Given the description of an element on the screen output the (x, y) to click on. 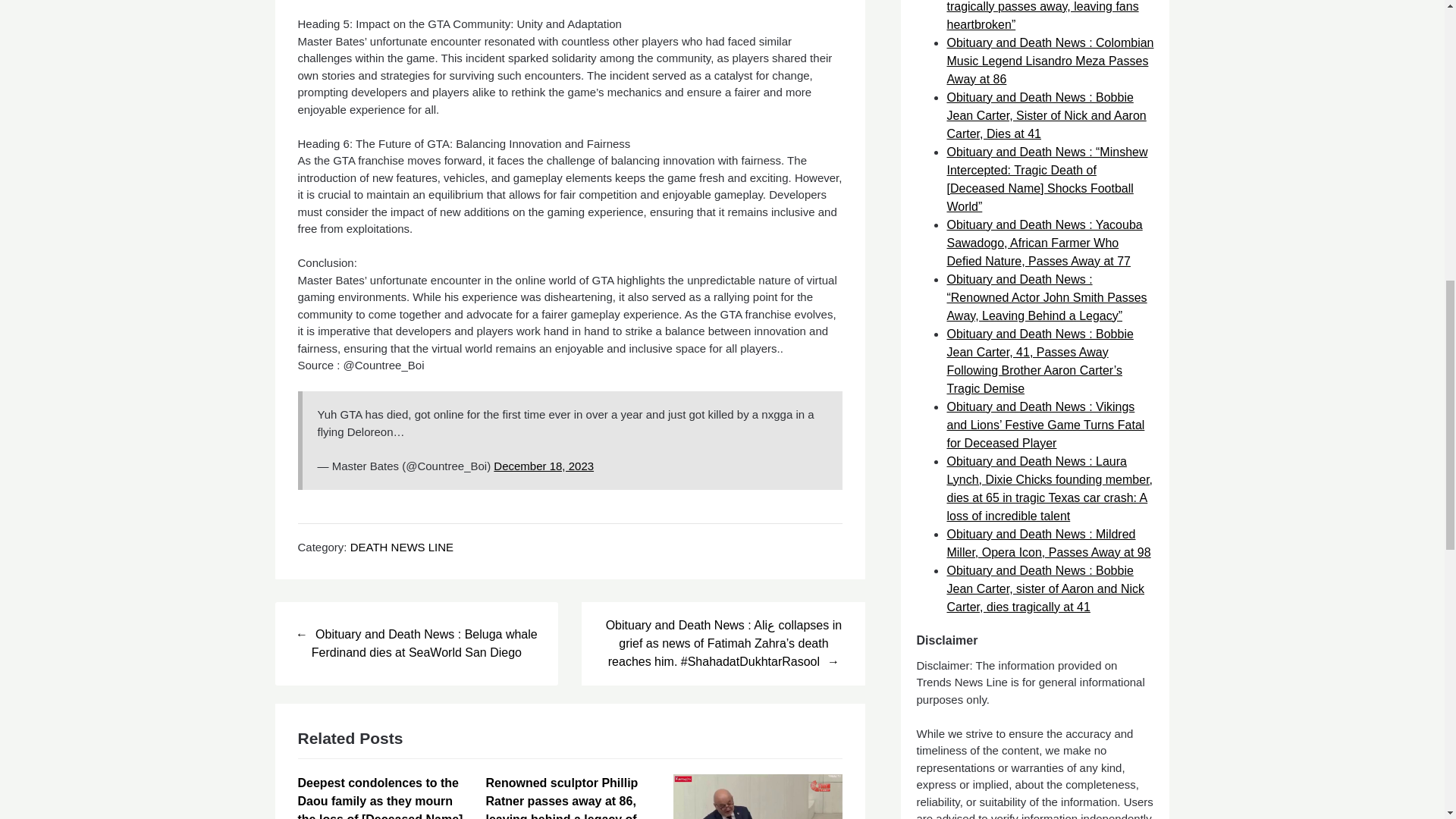
December 18, 2023 (543, 465)
DEATH NEWS LINE (401, 546)
